Given the description of an element on the screen output the (x, y) to click on. 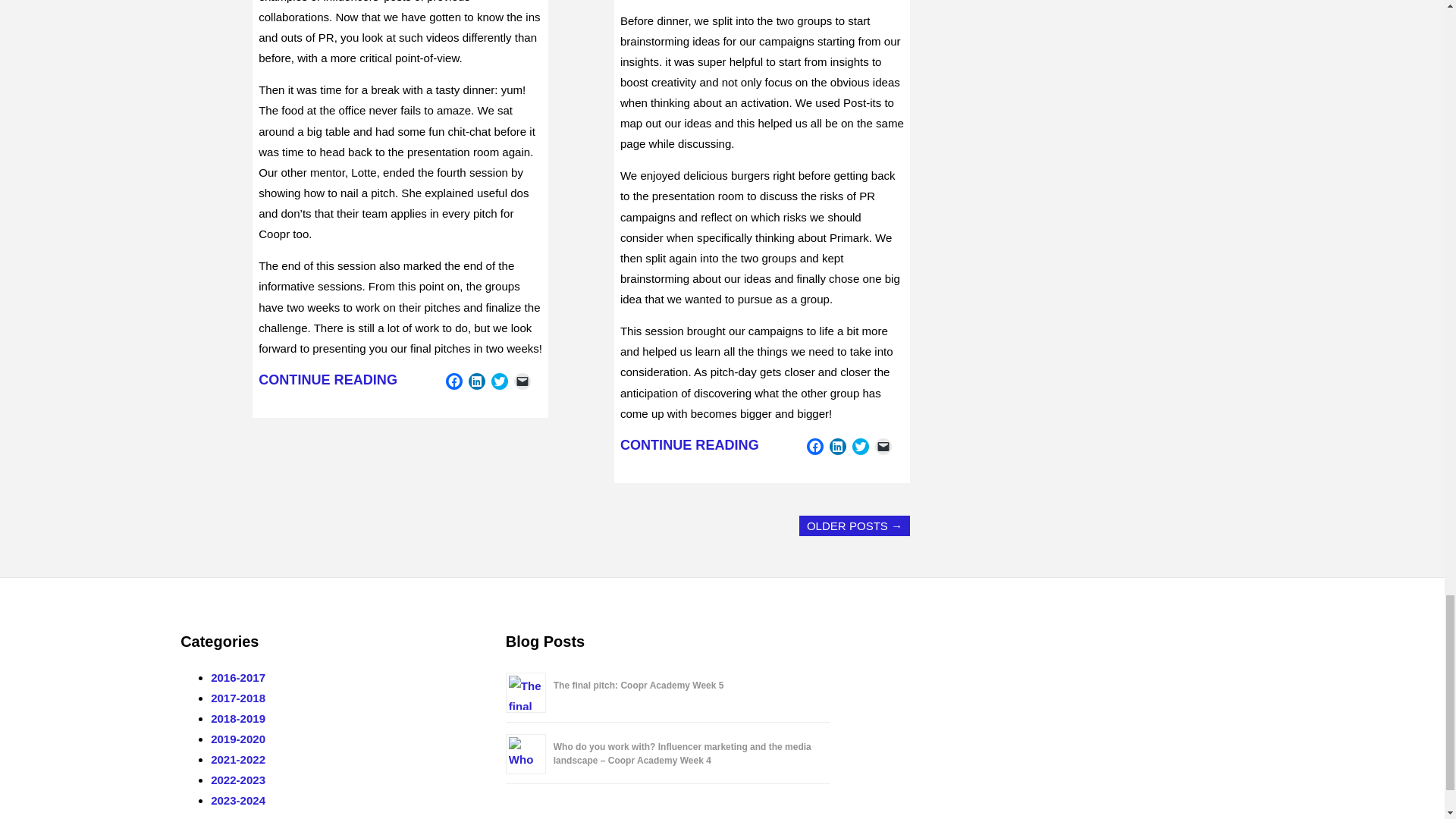
Click to share on LinkedIn (837, 446)
Click to share on Facebook (815, 446)
Click to share on Facebook (454, 381)
Click to email a link to a friend (522, 381)
Click to share on LinkedIn (476, 381)
CONTINUE READING (328, 379)
Click to share on Twitter (860, 446)
From Air Bag to Literal Tote Bag: Coopr Academy Week 3 (689, 444)
CONTINUE READING (689, 444)
Click to share on Twitter (500, 381)
